Given the description of an element on the screen output the (x, y) to click on. 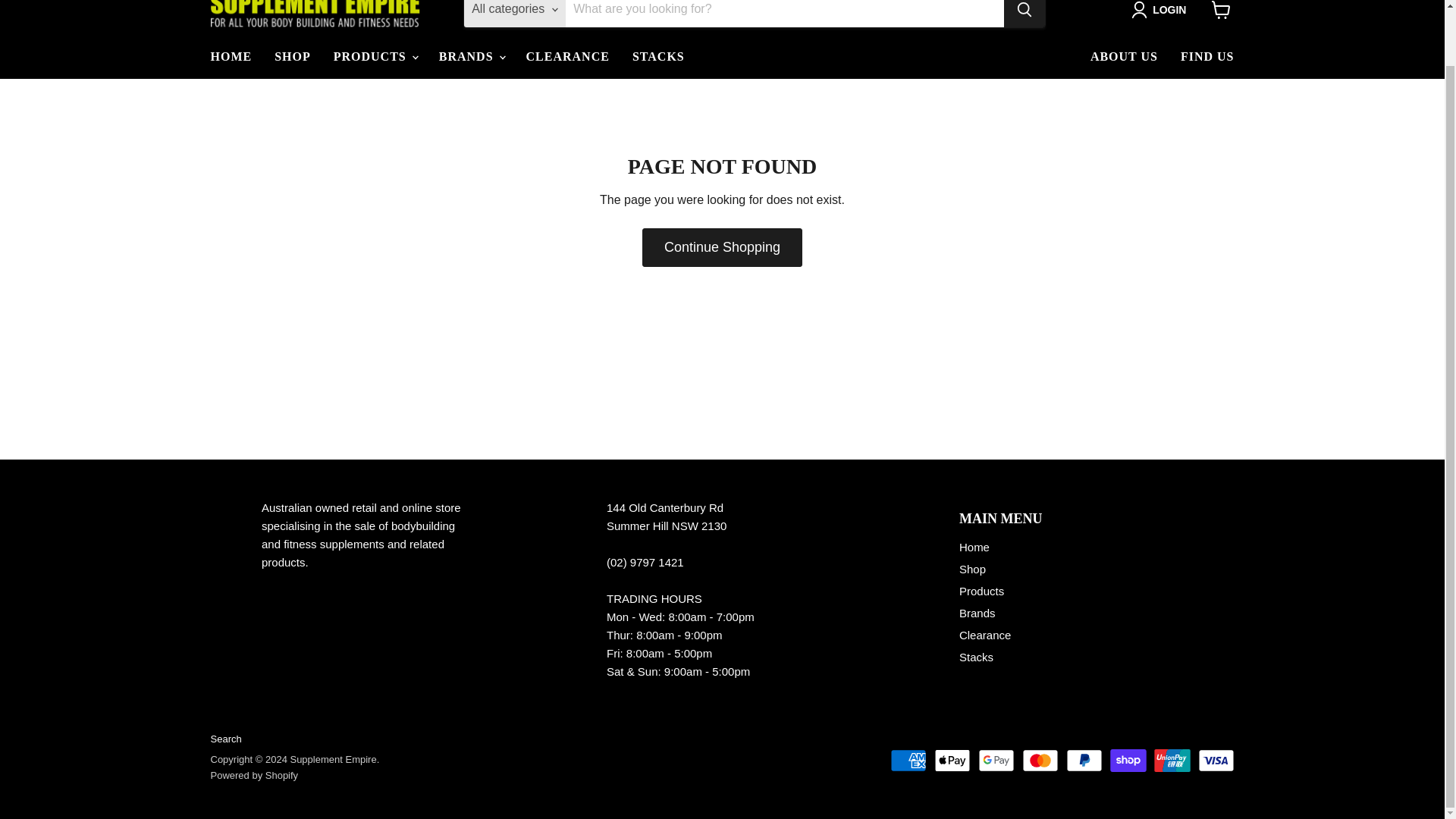
PayPal (1083, 760)
HOME (230, 56)
Mastercard (1040, 760)
Apple Pay (952, 760)
LOGIN (1161, 9)
Visa (1216, 760)
American Express (907, 760)
Google Pay (996, 760)
Shop Pay (1128, 760)
View cart (1221, 13)
SHOP (292, 56)
Union Pay (1172, 760)
